Given the description of an element on the screen output the (x, y) to click on. 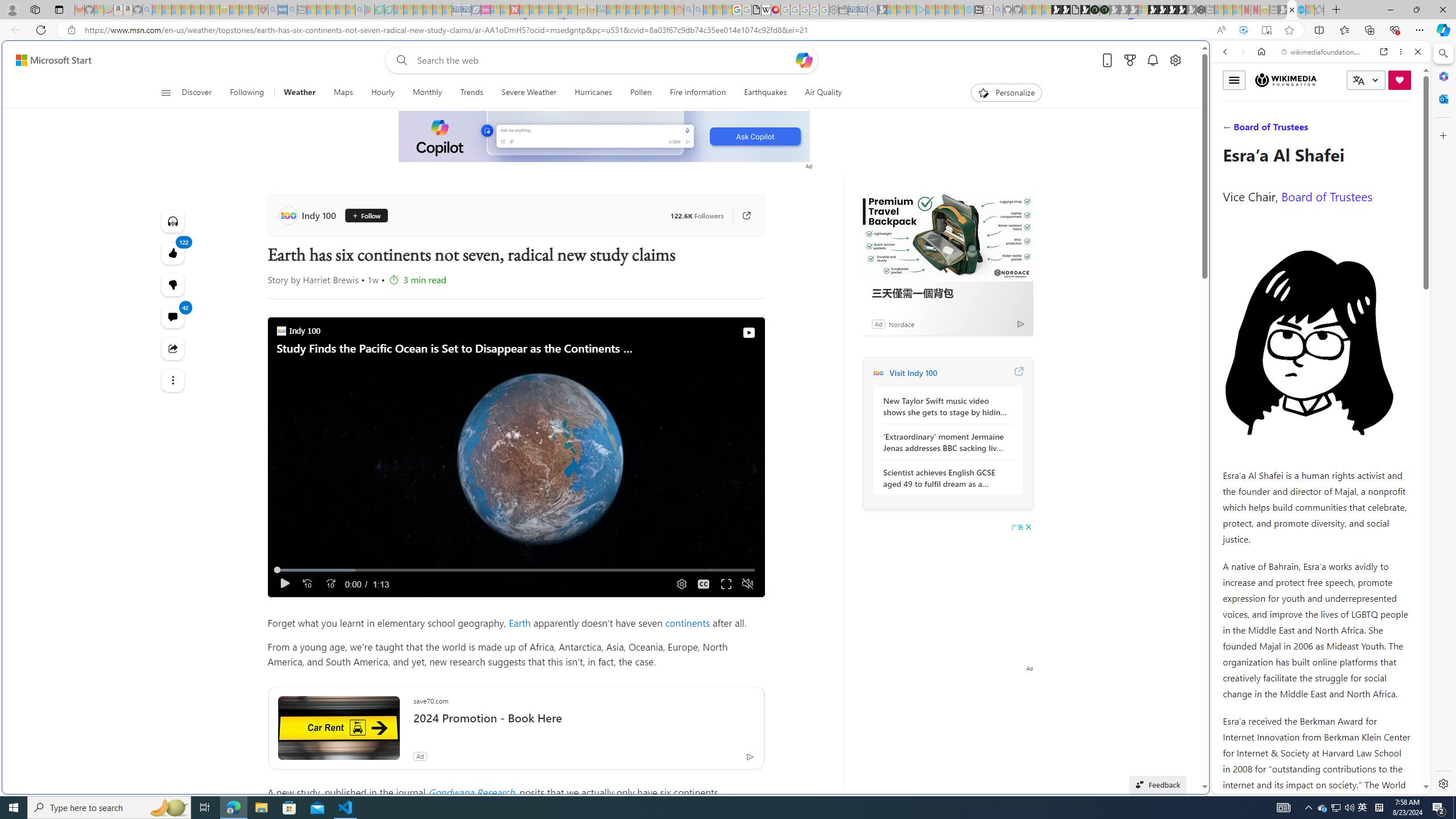
Indy 100 (877, 372)
Unmute (746, 583)
Search Filter, Search Tools (1350, 129)
CURRENT LANGUAGE: (1366, 80)
continents (687, 621)
